Given the description of an element on the screen output the (x, y) to click on. 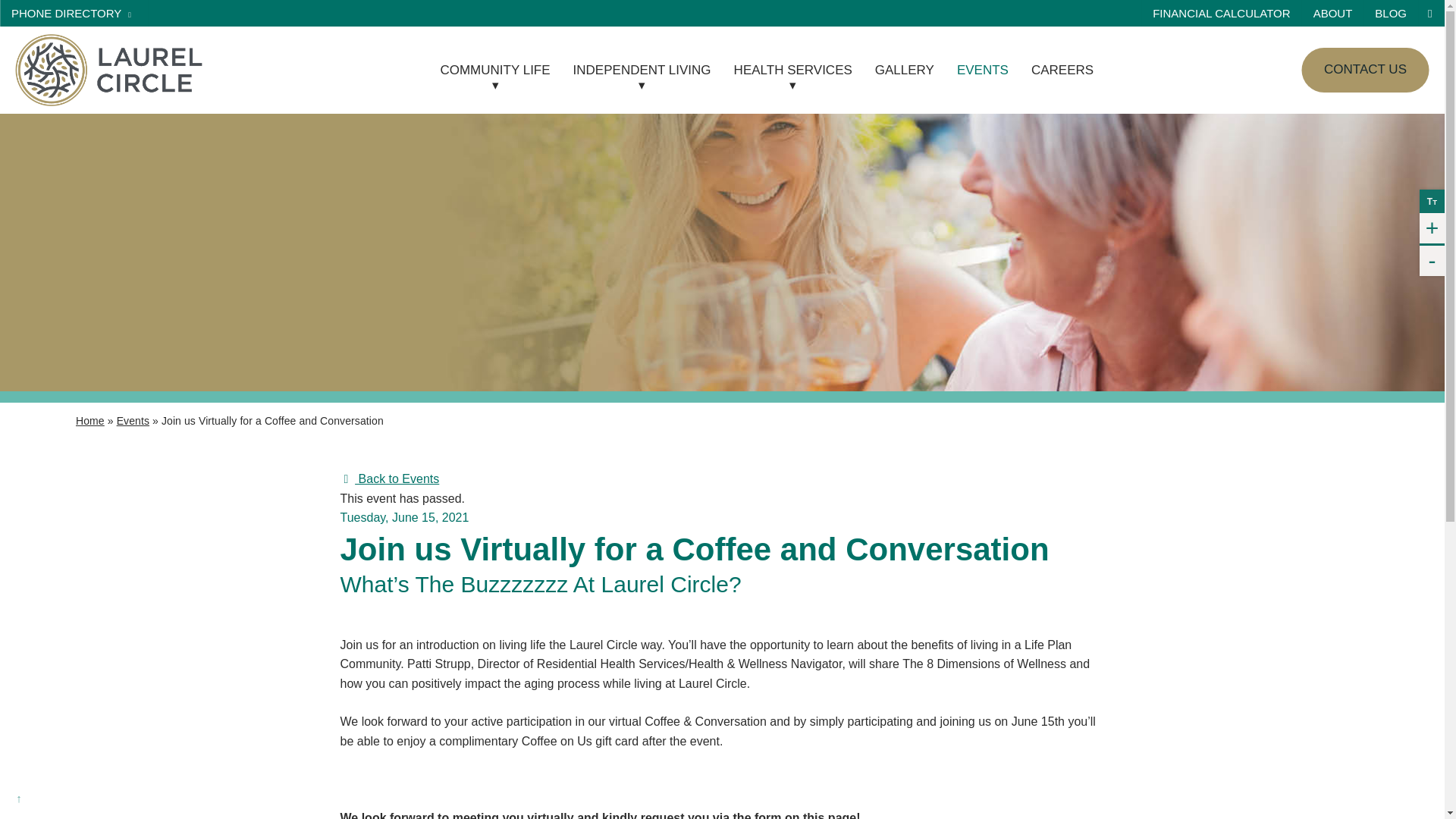
COMMUNITY LIFE (127, 46)
Home (494, 69)
CONTACT US (89, 420)
Laurel Circle (1365, 69)
BLOG (108, 70)
HEALTH SERVICES (1390, 13)
Events (792, 69)
PHONE DIRECTORY (132, 420)
Back to Events (74, 13)
CAREERS (389, 478)
INDEPENDENT LIVING (1062, 69)
ABOUT (642, 69)
GALLERY (1332, 13)
Contact Us (903, 69)
